Given the description of an element on the screen output the (x, y) to click on. 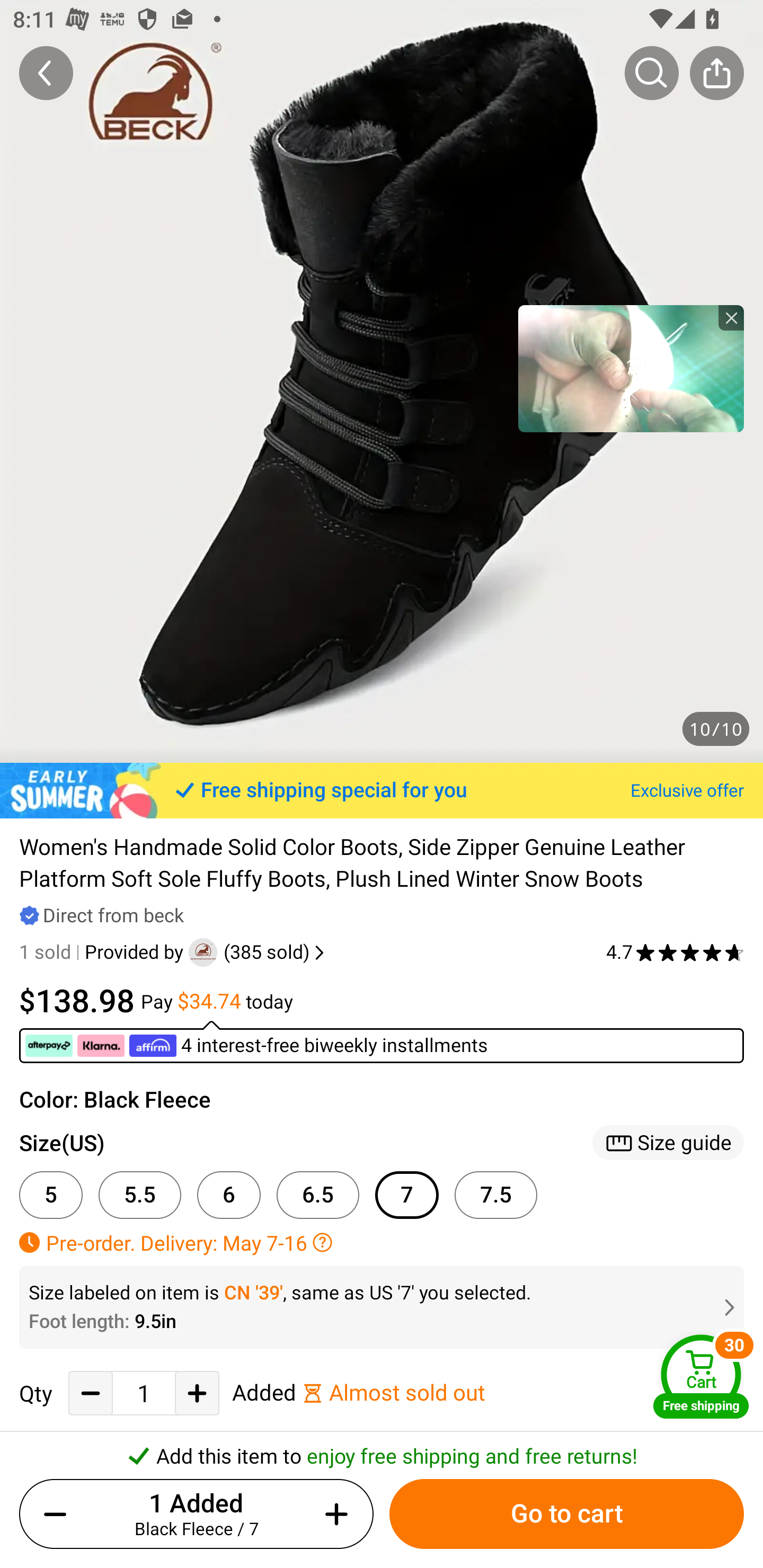
Back (46, 72)
Share (716, 72)
tronplayer_view (631, 368)
Free shipping special for you Exclusive offer (381, 790)
1 sold Provided by  (103, 952)
4.7 (674, 952)
￼ ￼ ￼ 4 interest-free biweekly installments (381, 1041)
 Size guide (667, 1142)
5 (50, 1194)
5.5 (139, 1194)
6 (228, 1194)
6.5 (317, 1194)
7 (406, 1194)
7.5 (495, 1194)
Pre-order. Delivery: May 7-16 (381, 1241)
Cart Free shipping Cart (701, 1375)
Decrease Quantity Button (90, 1392)
Add Quantity button (196, 1392)
1 (143, 1393)
Decrease Quantity Button (59, 1513)
Add Quantity button (332, 1513)
Go to cart (566, 1513)
